Given the description of an element on the screen output the (x, y) to click on. 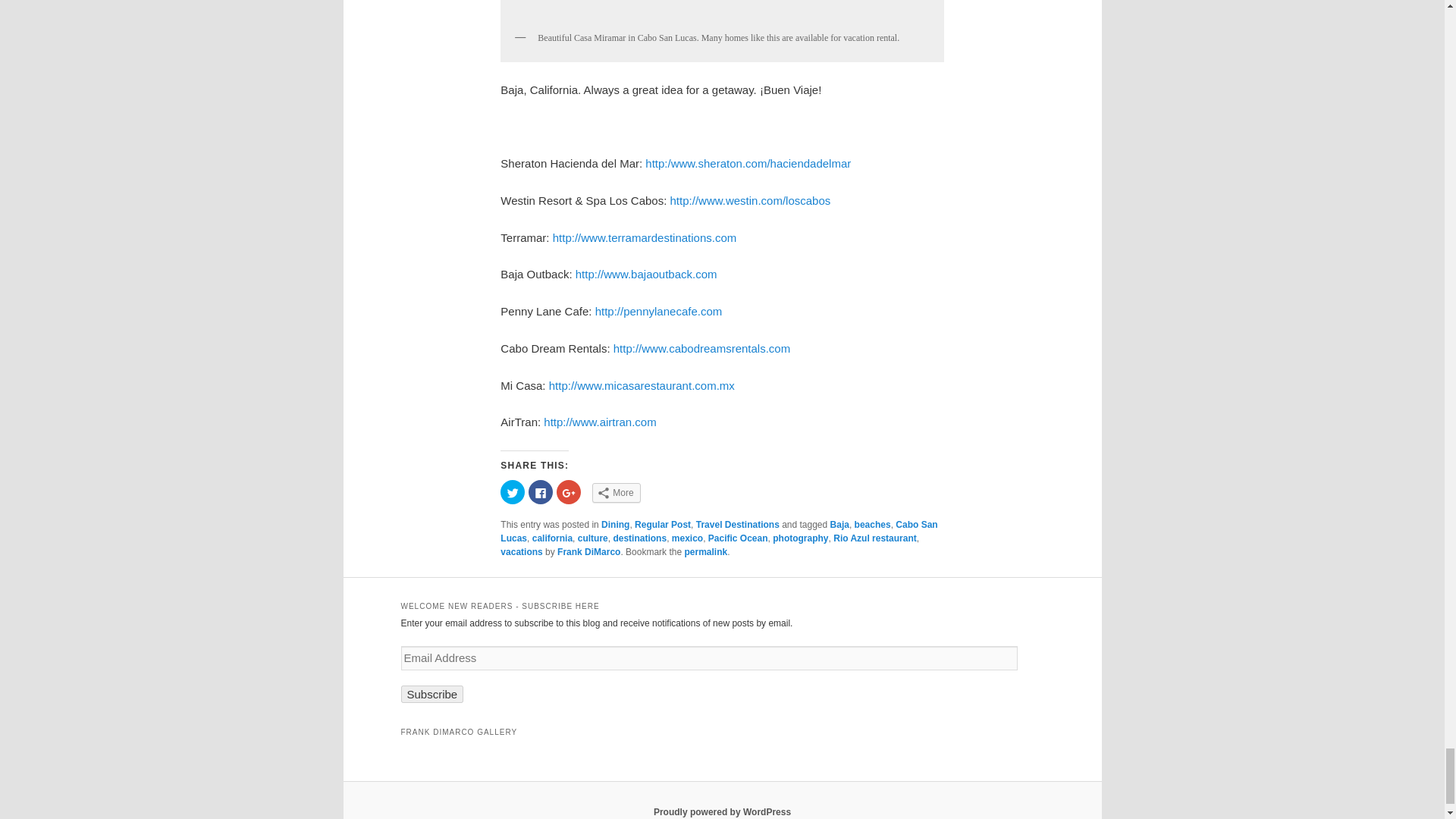
More (616, 492)
Baja Outback (646, 273)
Cabo Dream Rentals (701, 348)
Click to share on Twitter (512, 491)
Mi Casa Restaurant (641, 385)
Penny Lane Cafe (658, 310)
Air Tran (599, 421)
Westin Los Cabos (750, 200)
Sheraton Hacienda Del Mar (747, 163)
Terramar (644, 237)
